Given the description of an element on the screen output the (x, y) to click on. 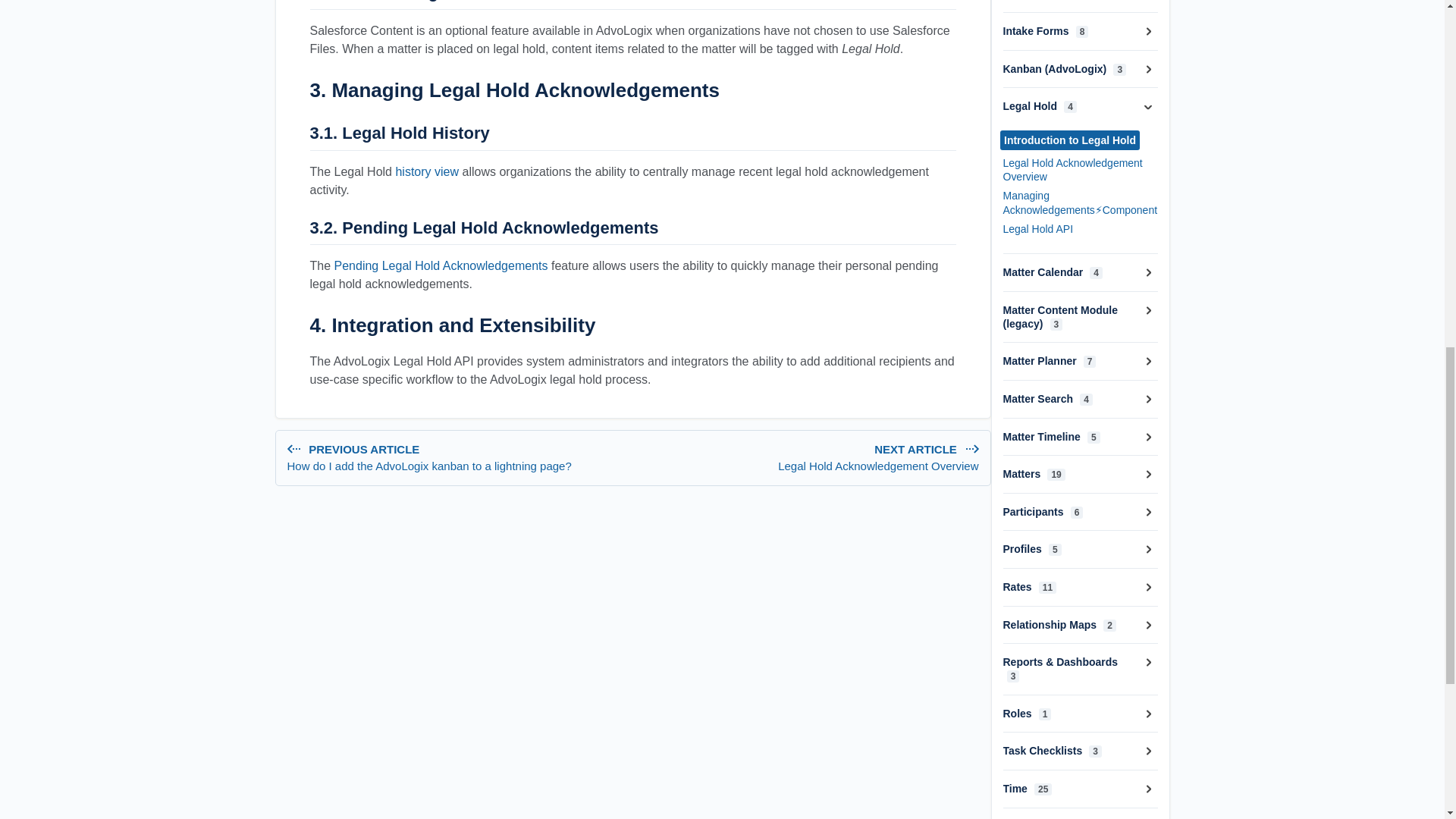
Legal Hold Acknowledgement Overview (877, 466)
How do I add the AdvoLogix kanban to a lightning page? (456, 466)
history view (808, 457)
Pending Legal Hold Acknowledgements (426, 171)
